Given the description of an element on the screen output the (x, y) to click on. 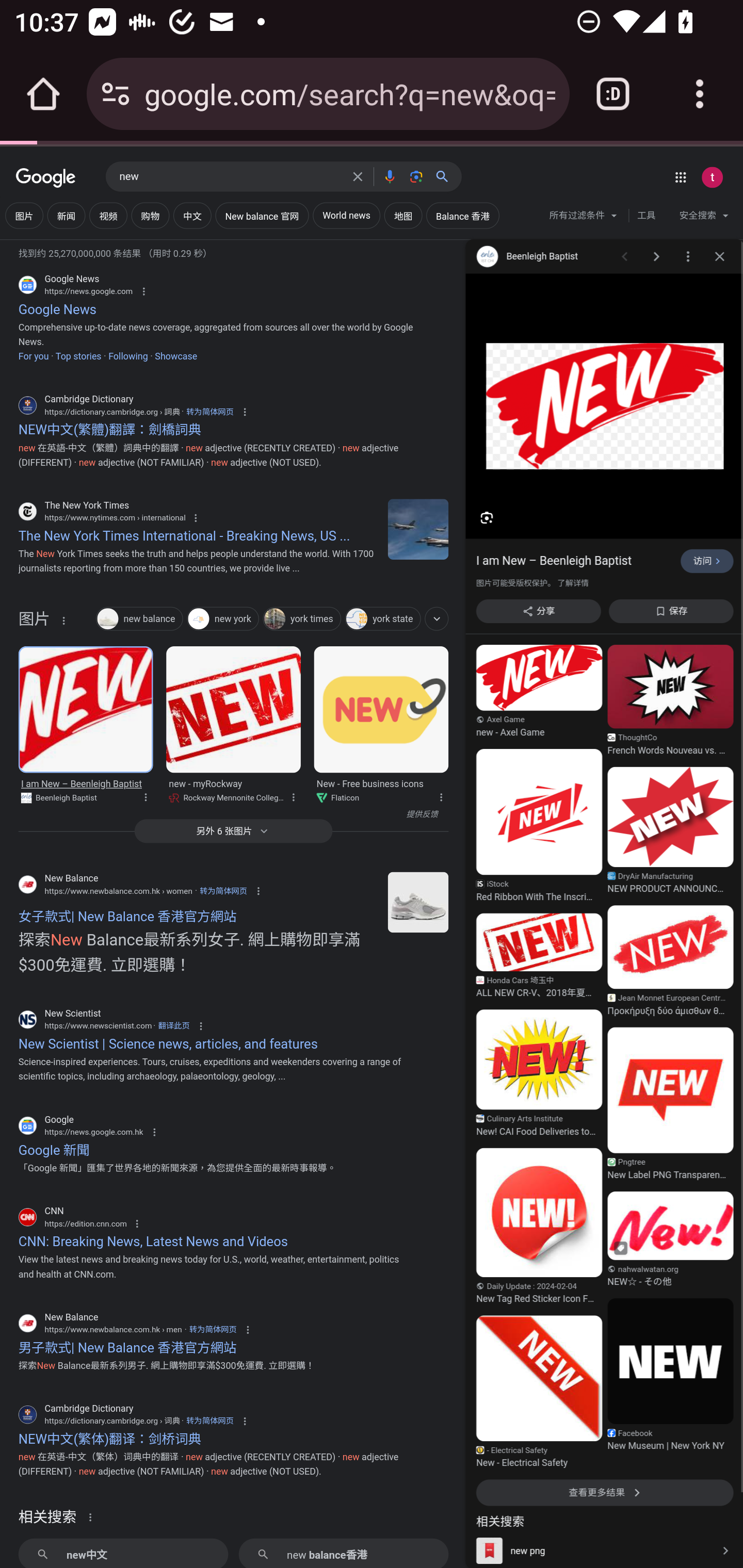
Open the home page (43, 93)
Connection is secure (115, 93)
Switch or close tabs (612, 93)
Customize and control Google Chrome (699, 93)
清除 (357, 176)
按语音搜索 (389, 176)
按图搜索 (415, 176)
搜索 (446, 176)
Google 应用 (680, 176)
Google 账号： test appium (testappium002@gmail.com) (712, 176)
Google (45, 178)
new (229, 177)
图片 (24, 215)
新闻 (65, 215)
视频 (107, 215)
购物 (149, 215)
添加“中文” 中文 (191, 215)
添加“New balance 官网” New balance 官网 (261, 215)
添加“World news” World news (346, 215)
地图 (403, 215)
添加“Balance 香港” Balance 香港 (462, 215)
所有过滤条件 (583, 217)
工具 (646, 215)
安全搜索 (703, 217)
For you (33, 356)
Top stories (77, 356)
Following (127, 356)
Showcase (175, 356)
转为简体网页 (209, 411)
international (417, 528)
图片 (33, 623)
new balance (139, 620)
new york (222, 620)
york times (301, 620)
york state (382, 620)
按功能过滤 (436, 618)
关于这条结果的详细信息 (62, 620)
I am New – Beenleigh Baptist (85, 709)
new - myRockway (233, 709)
New - Free business icons (380, 709)
关于这条结果的详细信息 (145, 795)
关于这条结果的详细信息 (292, 795)
关于这条结果的详细信息 (440, 795)
另外 6 张图片 (232, 830)
women (417, 901)
转为简体网页 (223, 890)
翻译此页 (173, 1025)
转为简体网页 (212, 1329)
转为简体网页 (209, 1420)
关于这条结果的详细信息 (93, 1516)
new中文 (122, 1553)
new balance香港 (343, 1553)
